Given the description of an element on the screen output the (x, y) to click on. 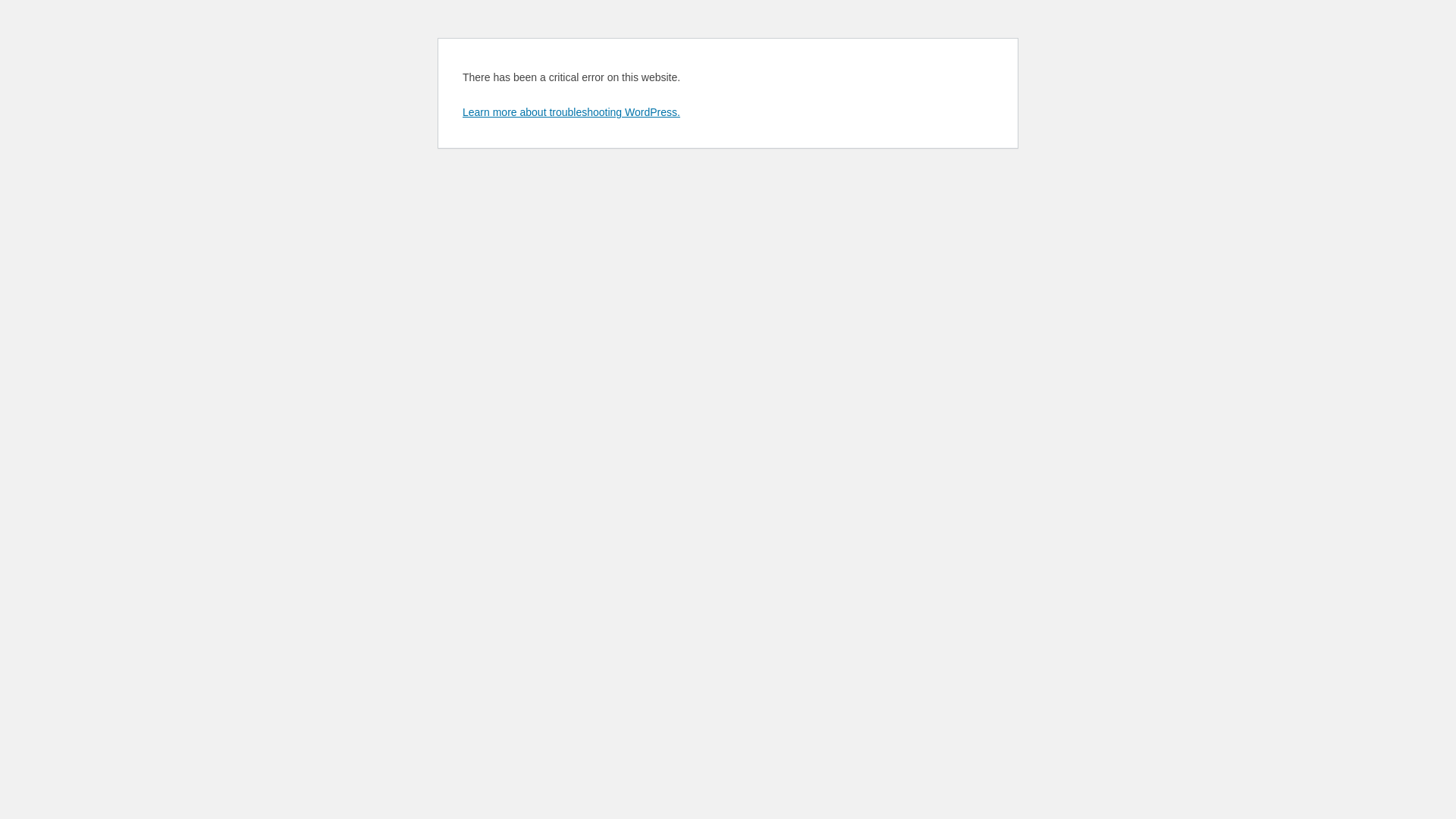
Learn more about troubleshooting WordPress. Element type: text (571, 112)
